Given the description of an element on the screen output the (x, y) to click on. 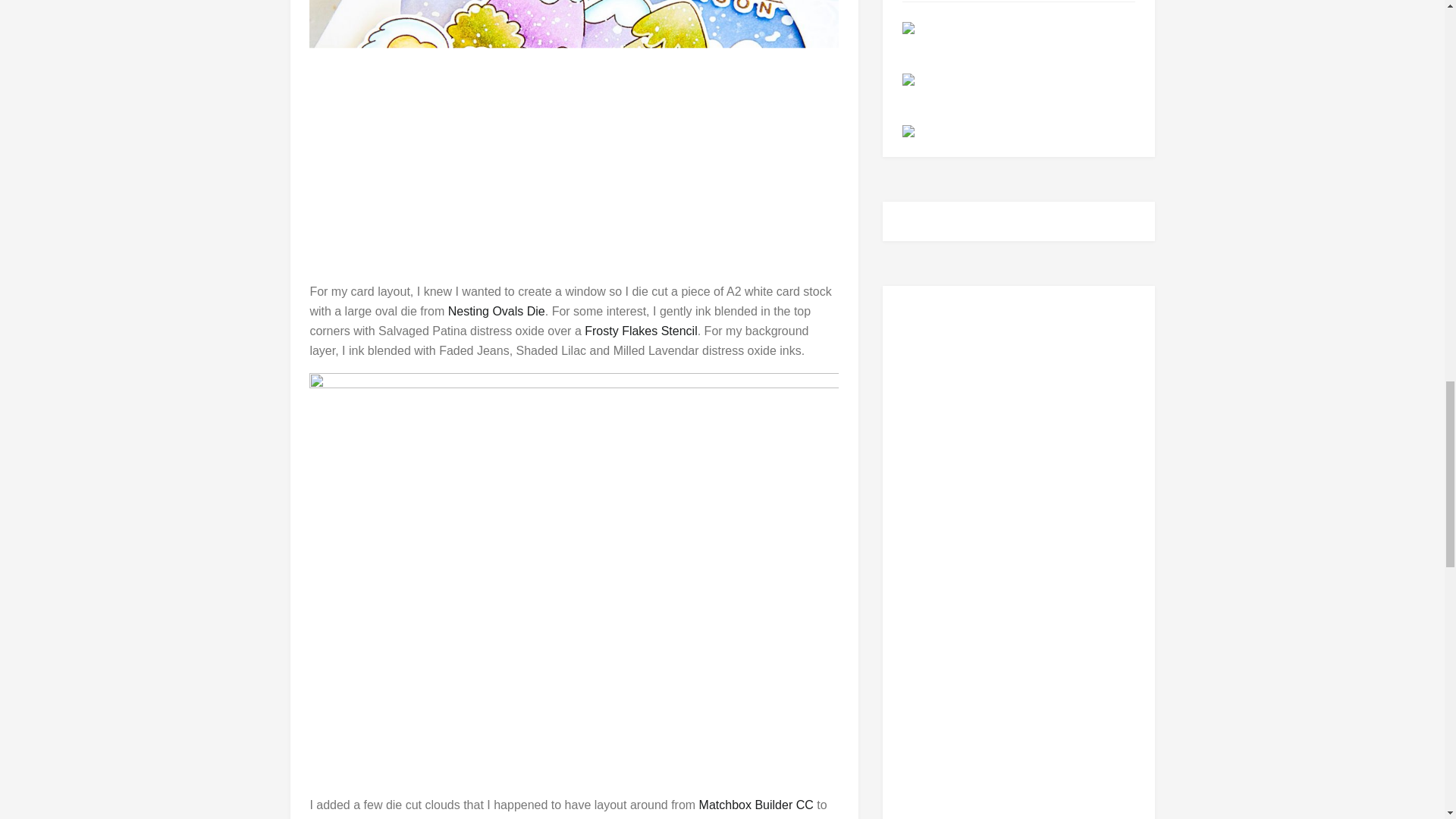
Frosty Flakes Stencil (641, 330)
Nesting Ovals Die (496, 310)
Matchbox Builder CC (755, 804)
